Given the description of an element on the screen output the (x, y) to click on. 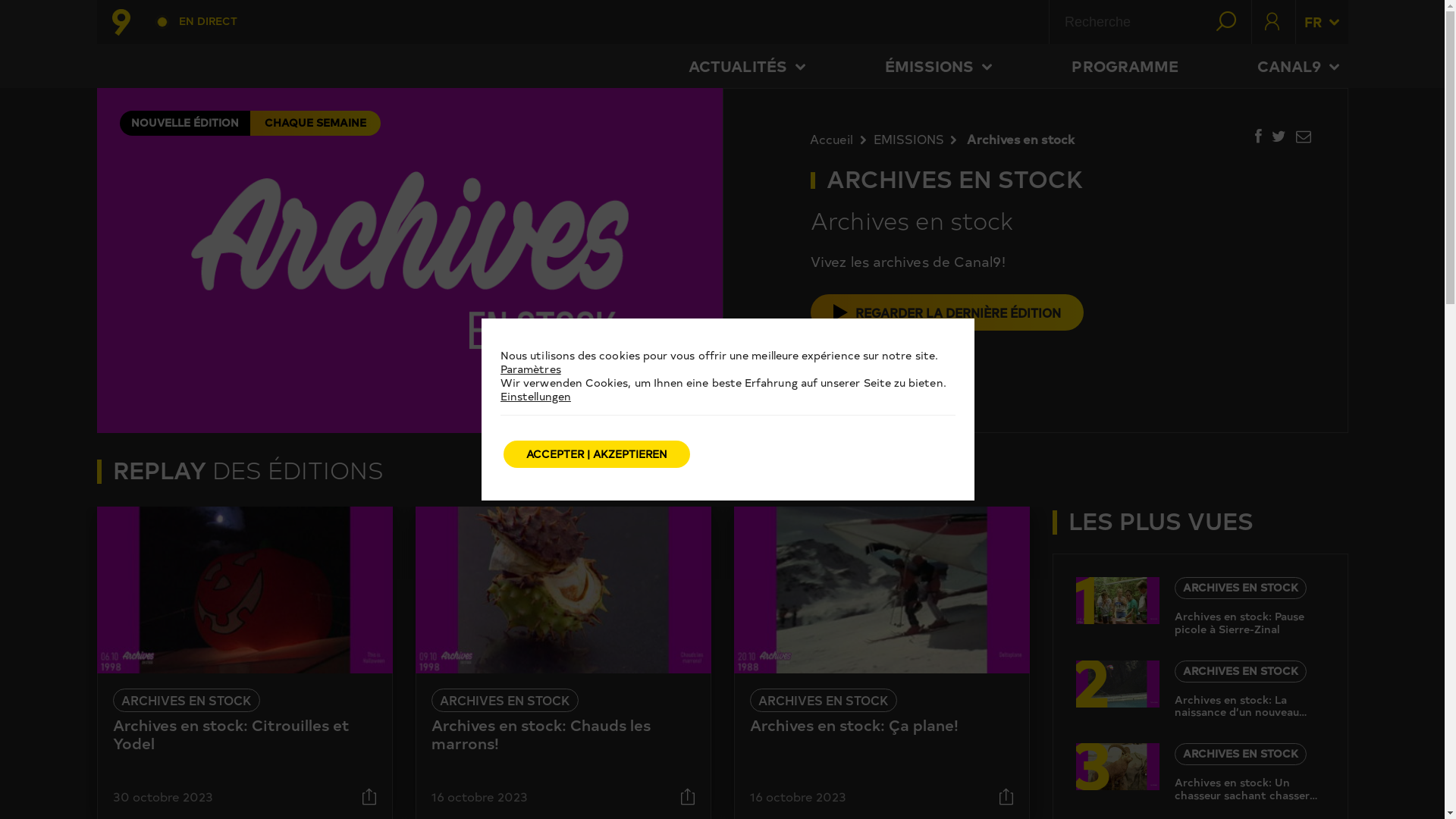
Accueil Element type: text (841, 138)
16 octobre 2023 Element type: text (478, 796)
ARCHIVES EN STOCK Element type: text (1239, 754)
30 octobre 2023 Element type: text (162, 796)
ARCHIVES EN STOCK Element type: text (822, 700)
ARCHIVES EN STOCK Element type: text (1239, 588)
PROGRAMME Element type: text (1124, 65)
ARCHIVES EN STOCK Element type: text (185, 700)
2 Element type: text (1116, 683)
CANAL9 Element type: text (1298, 65)
EMISSIONS Element type: text (918, 138)
ARCHIVES EN STOCK Element type: text (1239, 671)
3 Element type: text (1116, 766)
ARCHIVES EN STOCK Element type: text (503, 700)
FR Element type: text (1321, 21)
16 octobre 2023 Element type: text (797, 796)
EN DIRECT Element type: text (189, 21)
Archives en stock: Citrouilles et Yodel Element type: text (230, 733)
1 Element type: text (1116, 600)
submit Element type: text (1229, 21)
Archives en stock: Chauds les marrons! Element type: text (539, 733)
ACCEPTER | AKZEPTIEREN Element type: text (596, 453)
